Given the description of an element on the screen output the (x, y) to click on. 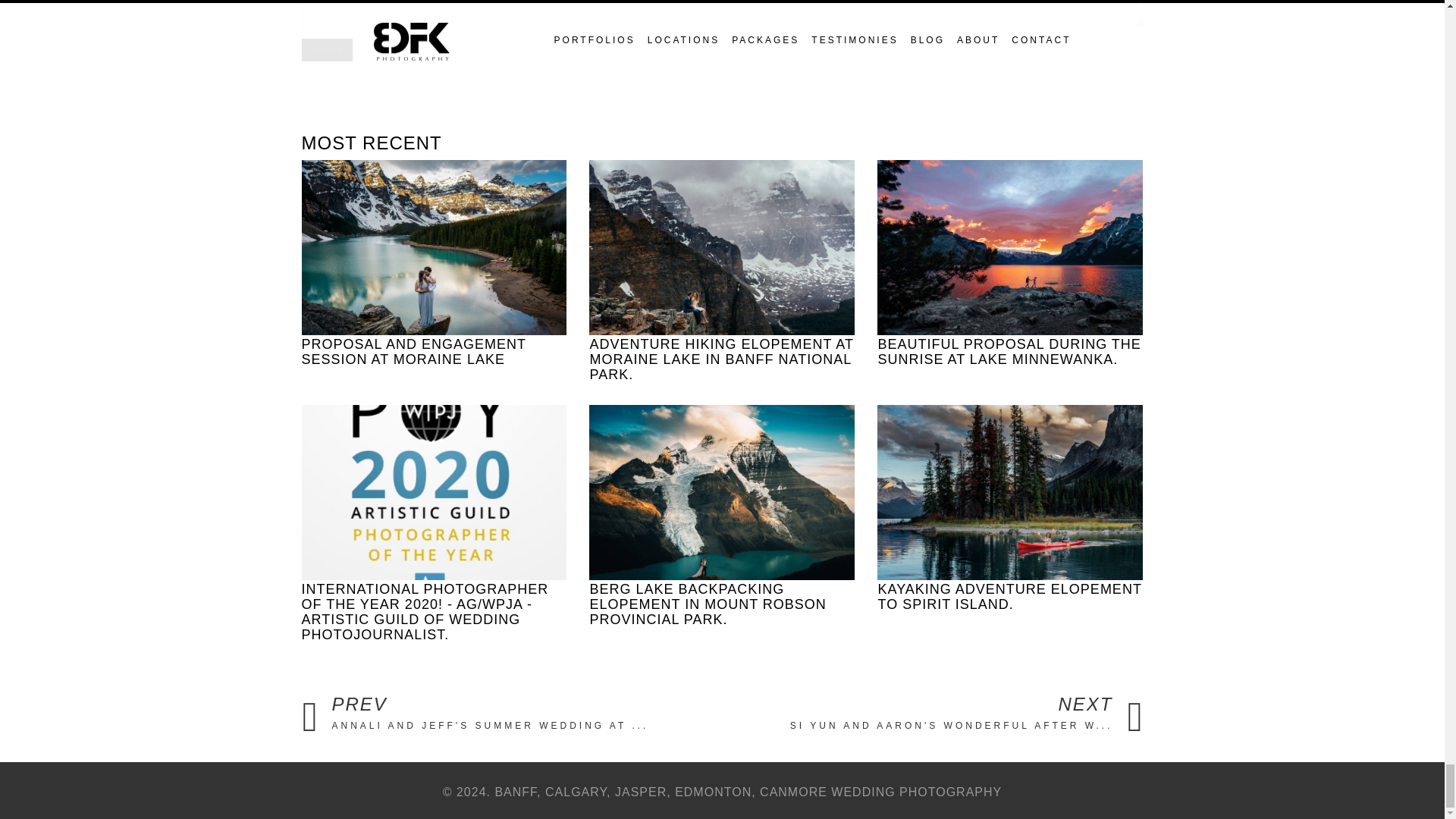
BEAUTIFUL PROPOSAL DURING THE SUNRISE AT LAKE MINNEWANKA. (1009, 262)
KAYAKING ADVENTURE ELOPEMENT TO SPIRIT ISLAND. (923, 712)
PROPOSAL AND ENGAGEMENT SESSION AT MORAINE LAKE (1009, 507)
Submit (521, 712)
